Given the description of an element on the screen output the (x, y) to click on. 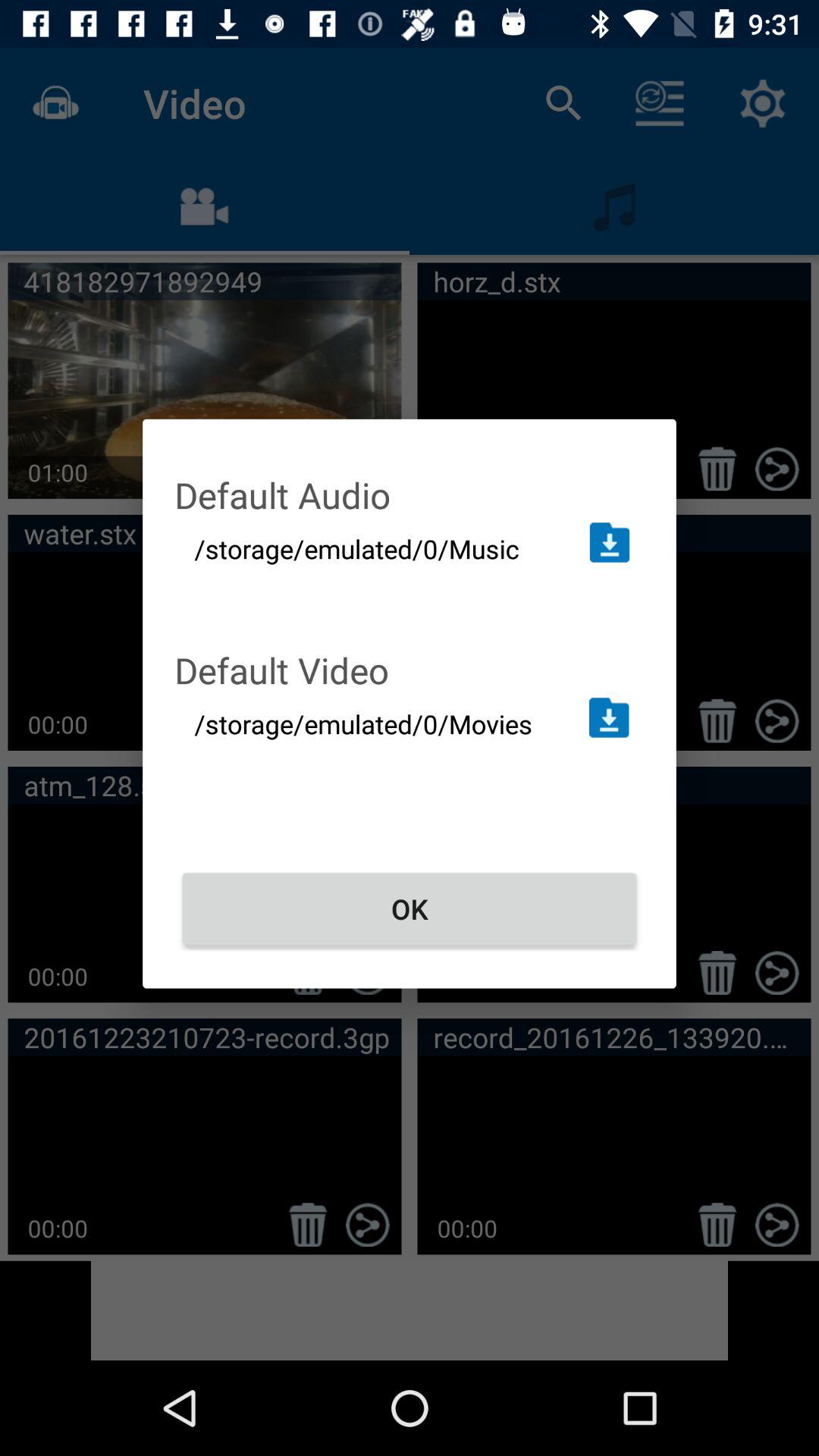
open folder (609, 542)
